Given the description of an element on the screen output the (x, y) to click on. 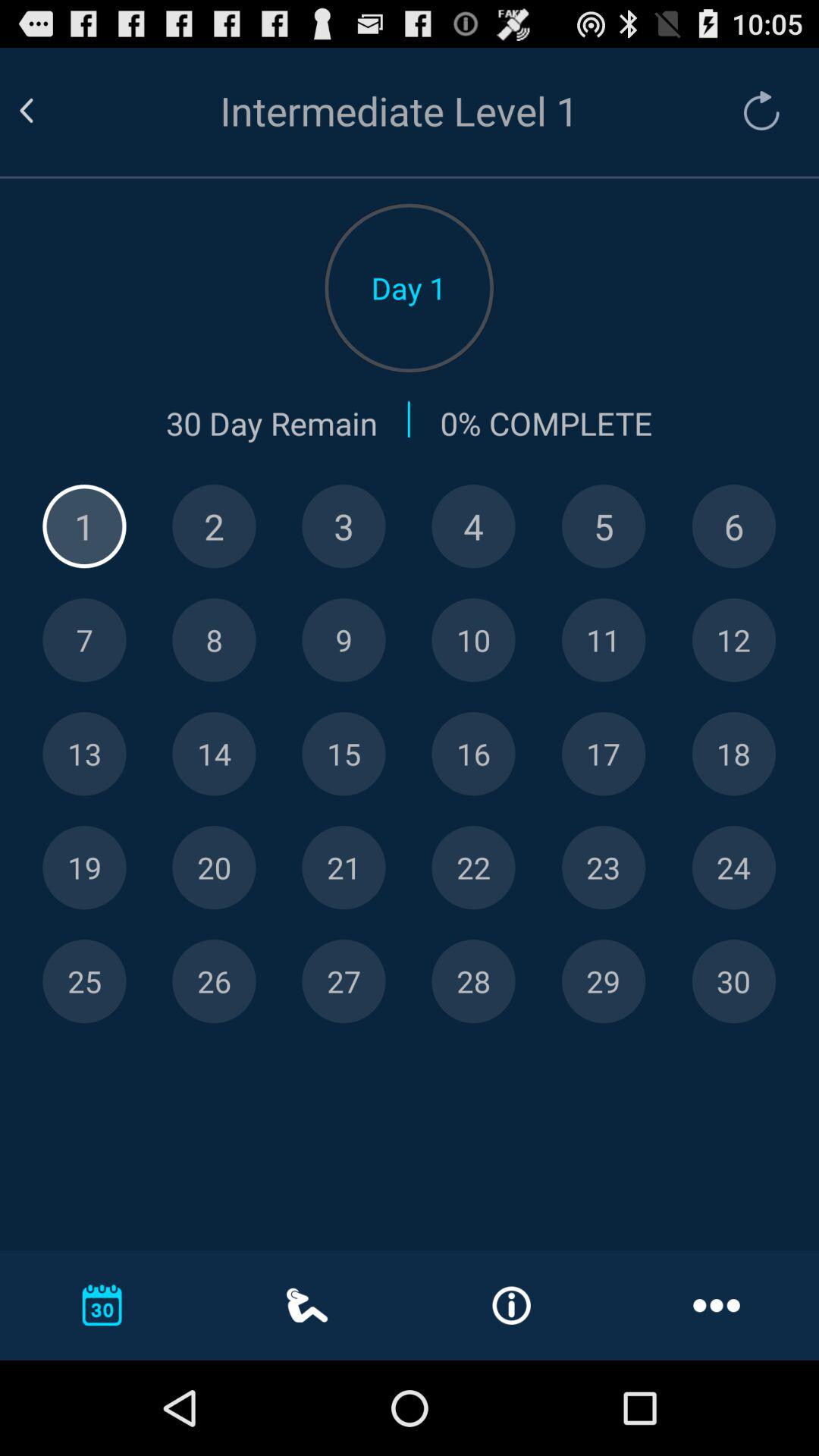
date selection (473, 981)
